Given the description of an element on the screen output the (x, y) to click on. 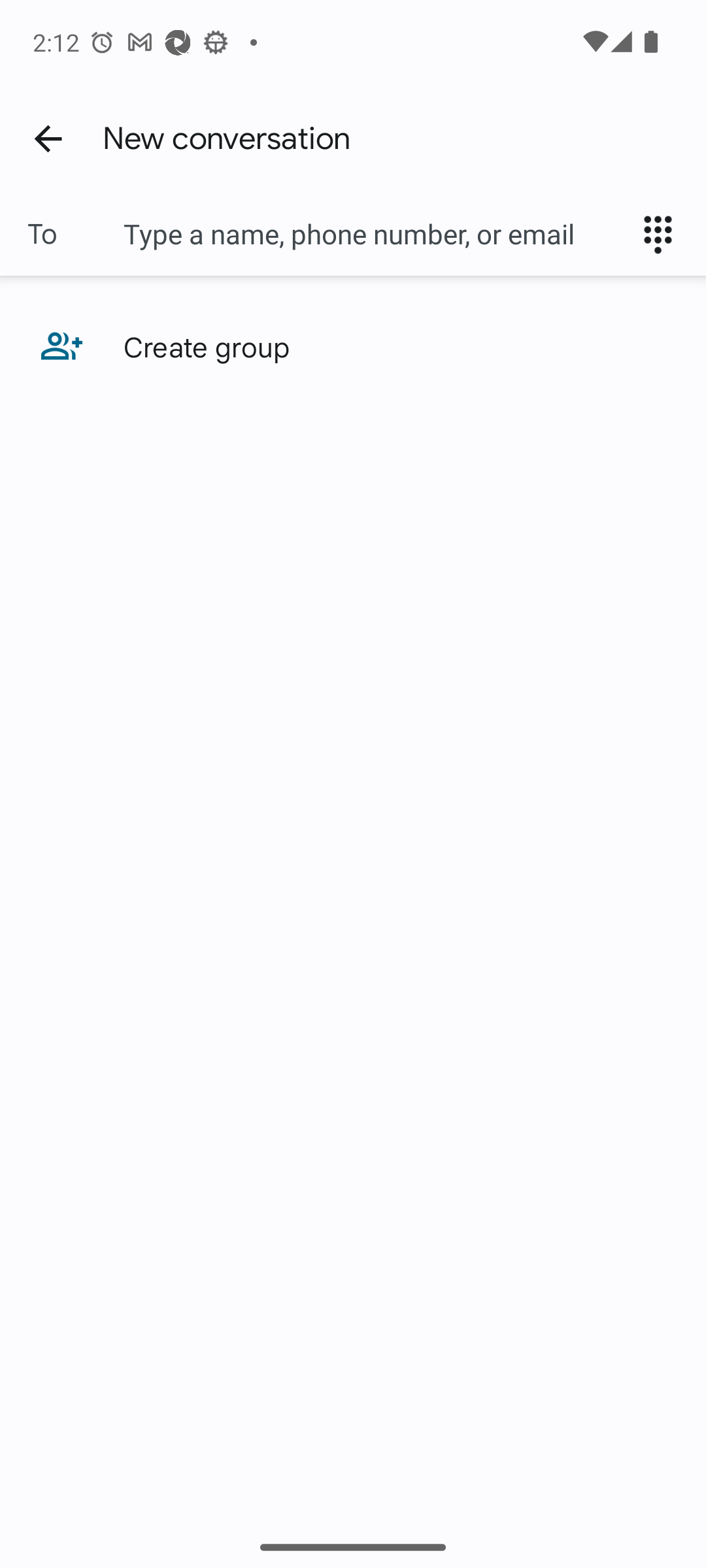
Navigate up (48, 137)
Type a name, phone number, or email (373, 233)
Switch between entering text and numbers (664, 233)
Create group (353, 346)
